Given the description of an element on the screen output the (x, y) to click on. 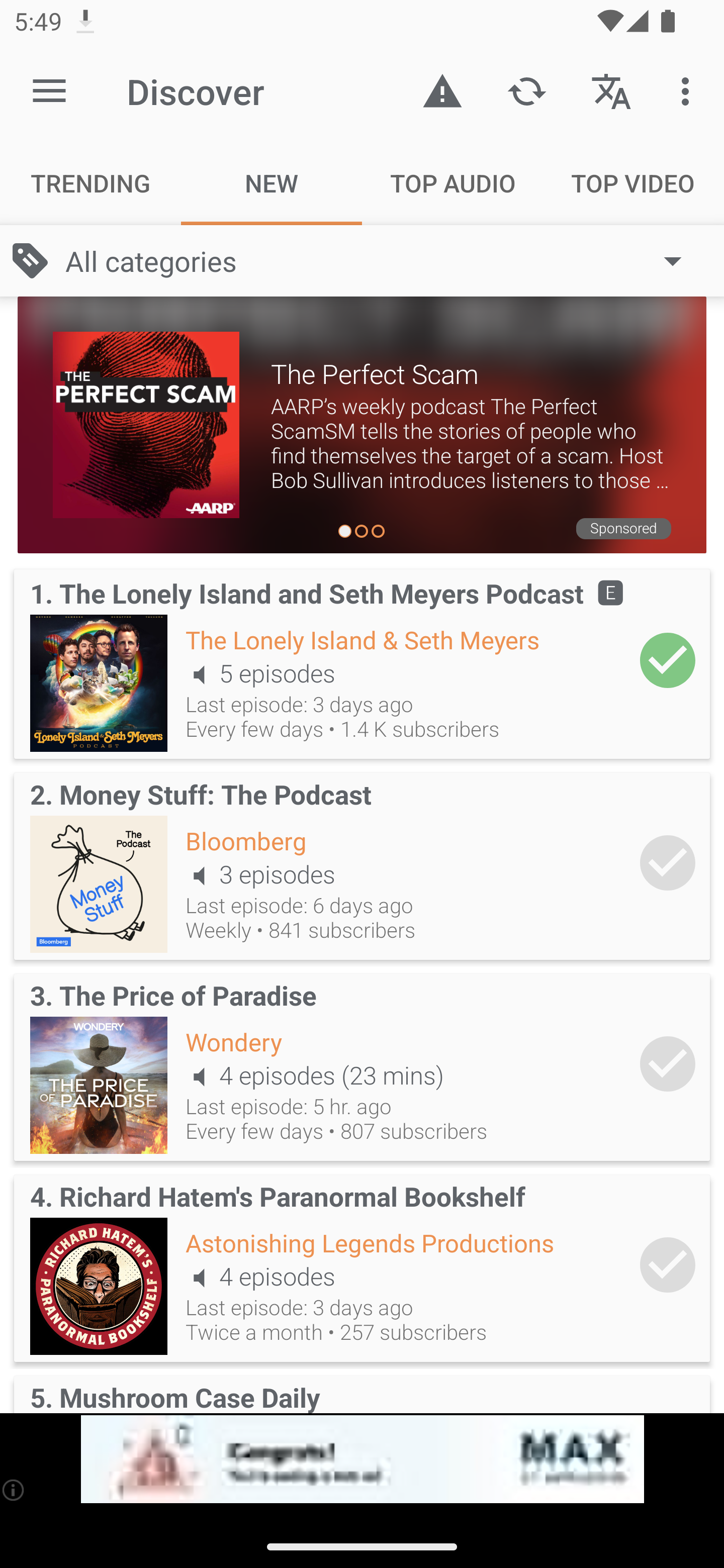
Open navigation sidebar (49, 91)
Report inappropriate content (442, 90)
Update top podcasts list (526, 90)
Podcast languages (611, 90)
More options (688, 90)
Trending TRENDING (90, 183)
Top Audio TOP AUDIO (452, 183)
Top Video TOP VIDEO (633, 183)
All categories (383, 260)
Add (667, 659)
Add (667, 862)
Add (667, 1063)
Add (667, 1265)
5. Mushroom Case Daily (362, 1390)
app-monetization (362, 1459)
(i) (14, 1489)
